Given the description of an element on the screen output the (x, y) to click on. 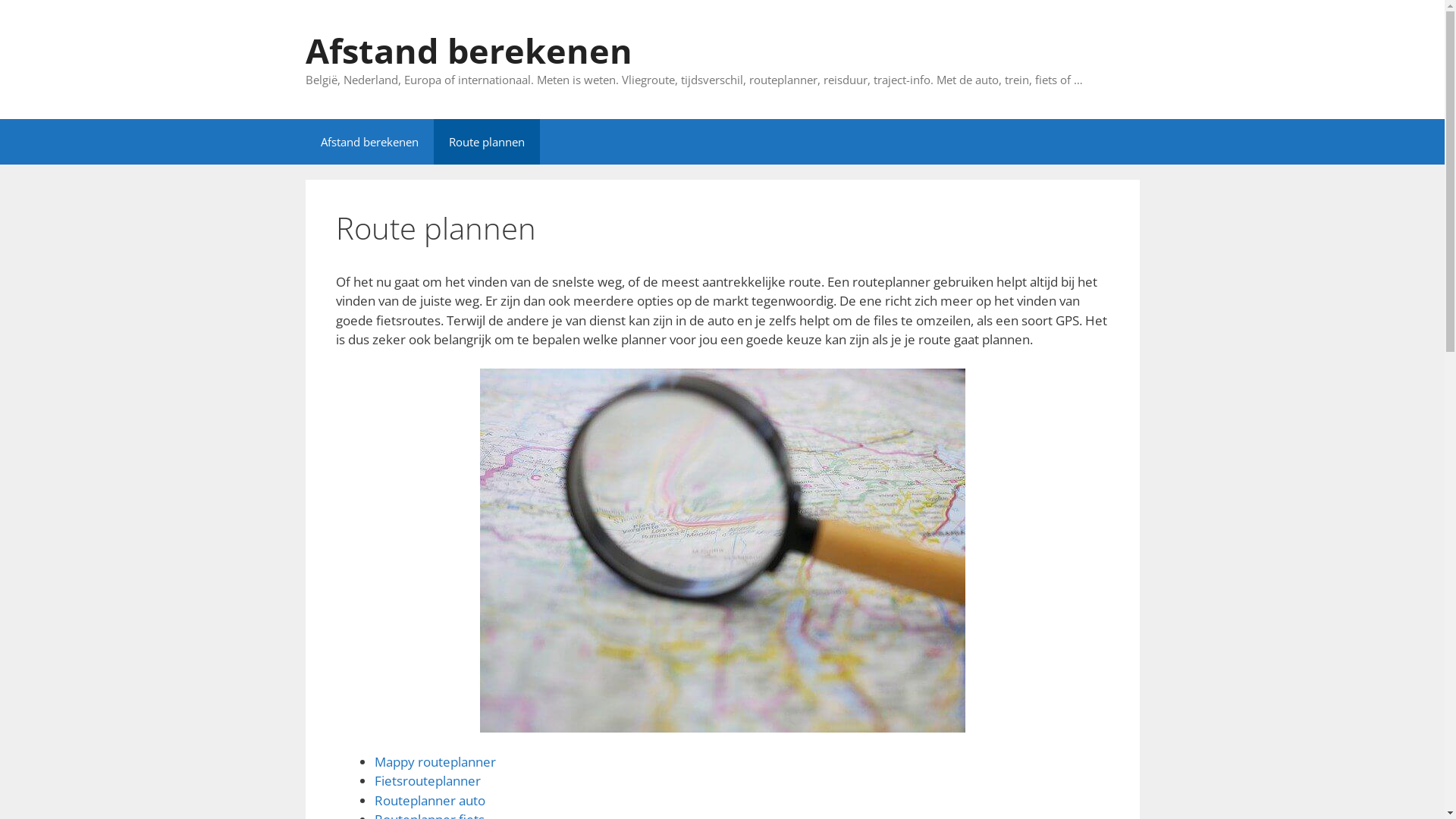
Fietsrouteplanner Element type: text (427, 780)
Routeplanner auto Element type: text (429, 800)
Mappy routeplanner Element type: text (434, 760)
Route plannen Element type: text (486, 140)
Afstand berekenen Element type: text (368, 140)
Afstand berekenen Element type: text (467, 50)
